Given the description of an element on the screen output the (x, y) to click on. 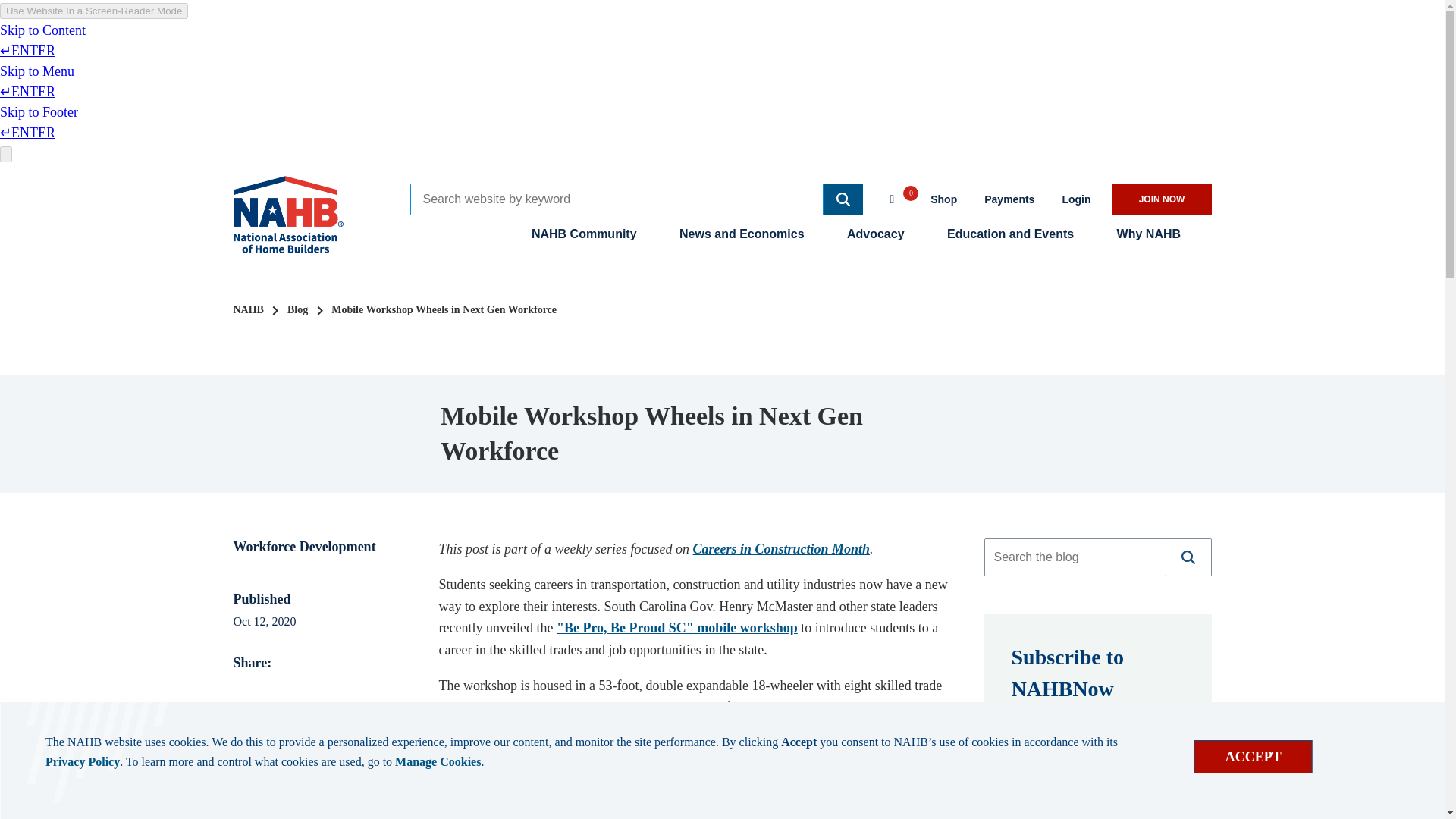
Login (1075, 199)
Facebook (285, 690)
Shop (944, 199)
Insert a query. Press enter to send (1074, 556)
Payments (1009, 199)
0 (899, 197)
JOIN NOW (1161, 199)
Print (306, 690)
Click here to view the cart (899, 197)
Opens a page (1075, 199)
Opens a page (1093, 808)
LinkedIn (241, 690)
Twitter (263, 690)
Insert a query. Press enter to send (616, 199)
Opens a page in a new window (1009, 199)
